Given the description of an element on the screen output the (x, y) to click on. 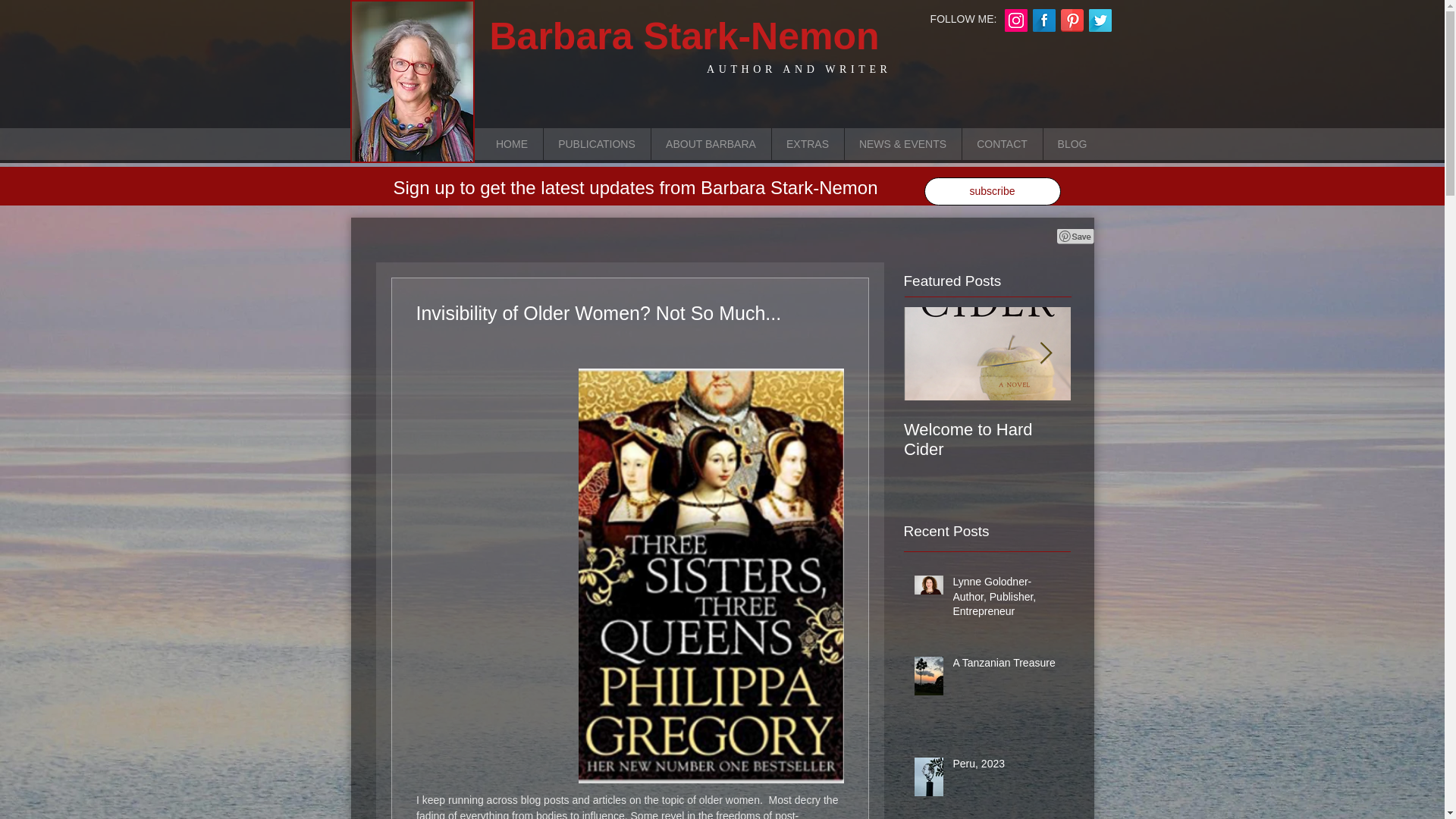
ABOUT BARBARA (710, 143)
A Tanzanian Treasure (1006, 666)
BLOG (1071, 143)
Pin to Pinterest (1075, 236)
HOME (510, 143)
EXTRAS (806, 143)
PUBLICATIONS (596, 143)
Lynne Golodner- Author, Publisher, Entrepreneur (1006, 599)
Pin to Pinterest (1075, 55)
Benediction for a Novel (1153, 439)
CONTACT (1001, 143)
Welcome to Hard Cider (987, 439)
Peru, 2023 (1006, 767)
subscribe (991, 191)
